Given the description of an element on the screen output the (x, y) to click on. 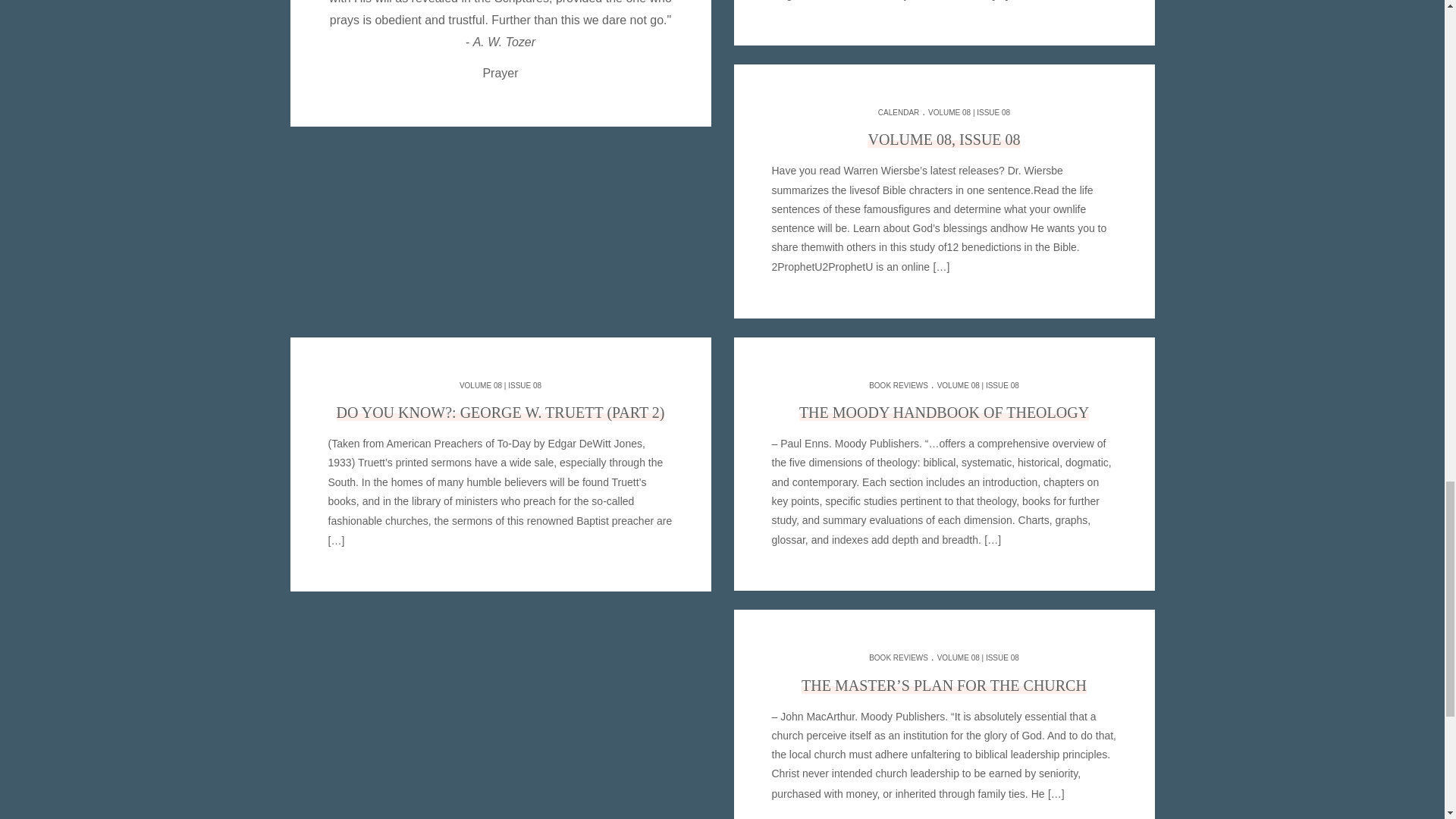
Read More (939, 266)
Read More (991, 539)
Read More (1054, 793)
Read More (499, 549)
